Given the description of an element on the screen output the (x, y) to click on. 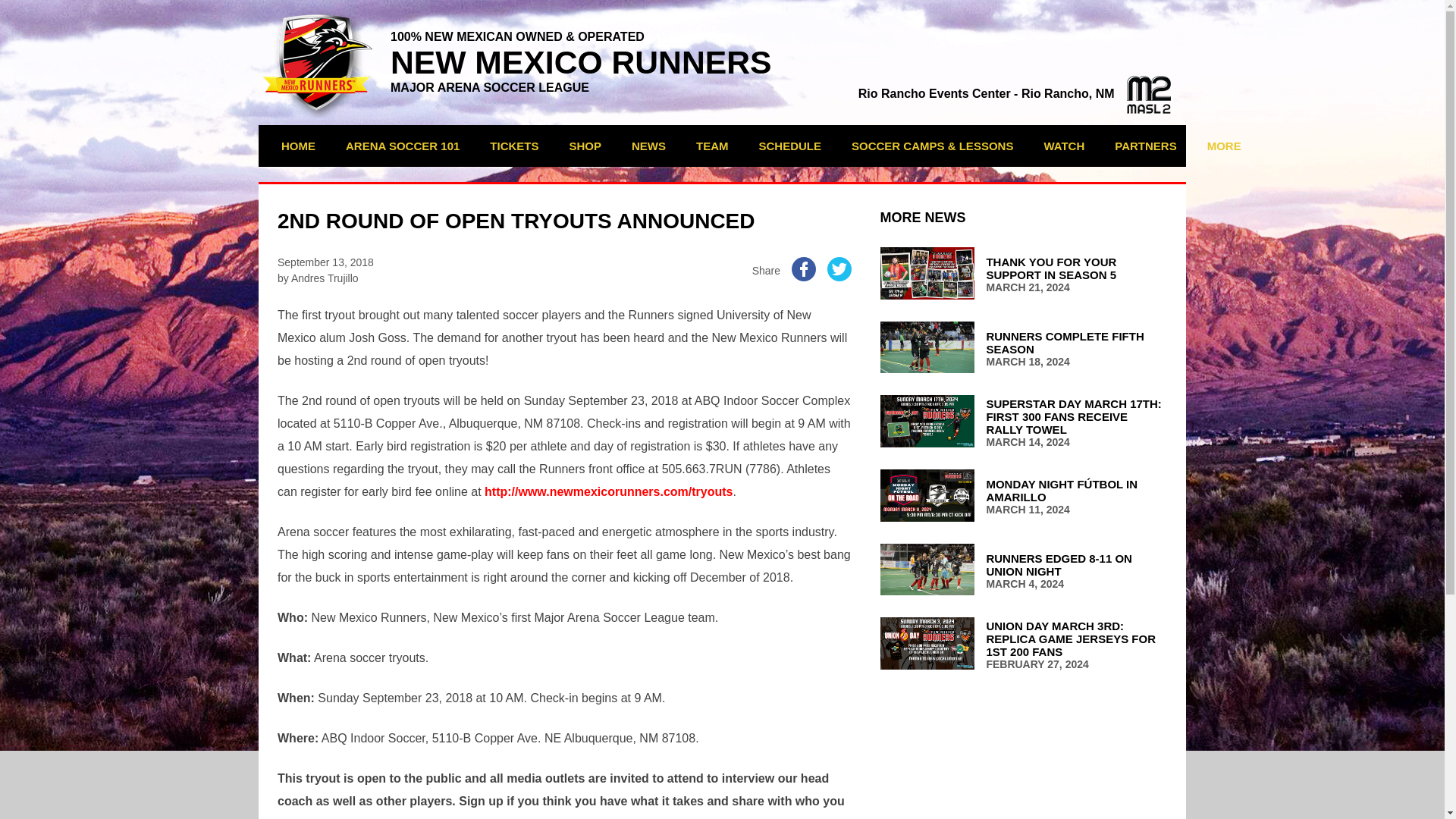
Rio Rancho Events Center - Rio Rancho, NM (1014, 92)
SCHEDULE (790, 146)
WATCH (1064, 146)
ARENA SOCCER 101 (402, 146)
HOME (297, 146)
